Given the description of an element on the screen output the (x, y) to click on. 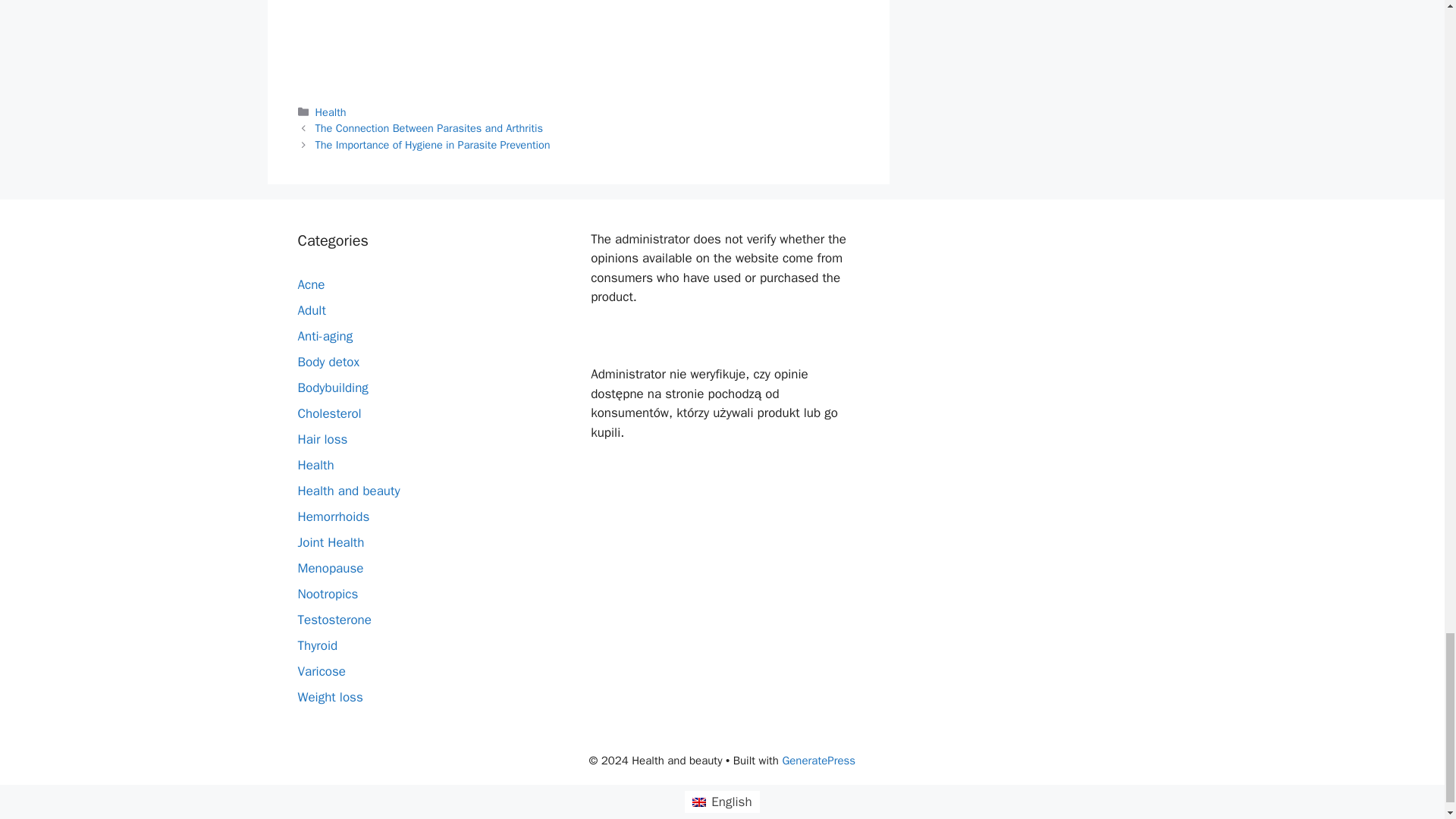
Cholesterol (329, 413)
Health and beauty (347, 490)
Adult (310, 310)
Acne (310, 284)
Anti-aging (324, 335)
Hair loss (322, 439)
The Connection Between Parasites and Arthritis (429, 128)
The Importance of Hygiene in Parasite Prevention (432, 144)
Health (315, 465)
Body detox (327, 361)
